Given the description of an element on the screen output the (x, y) to click on. 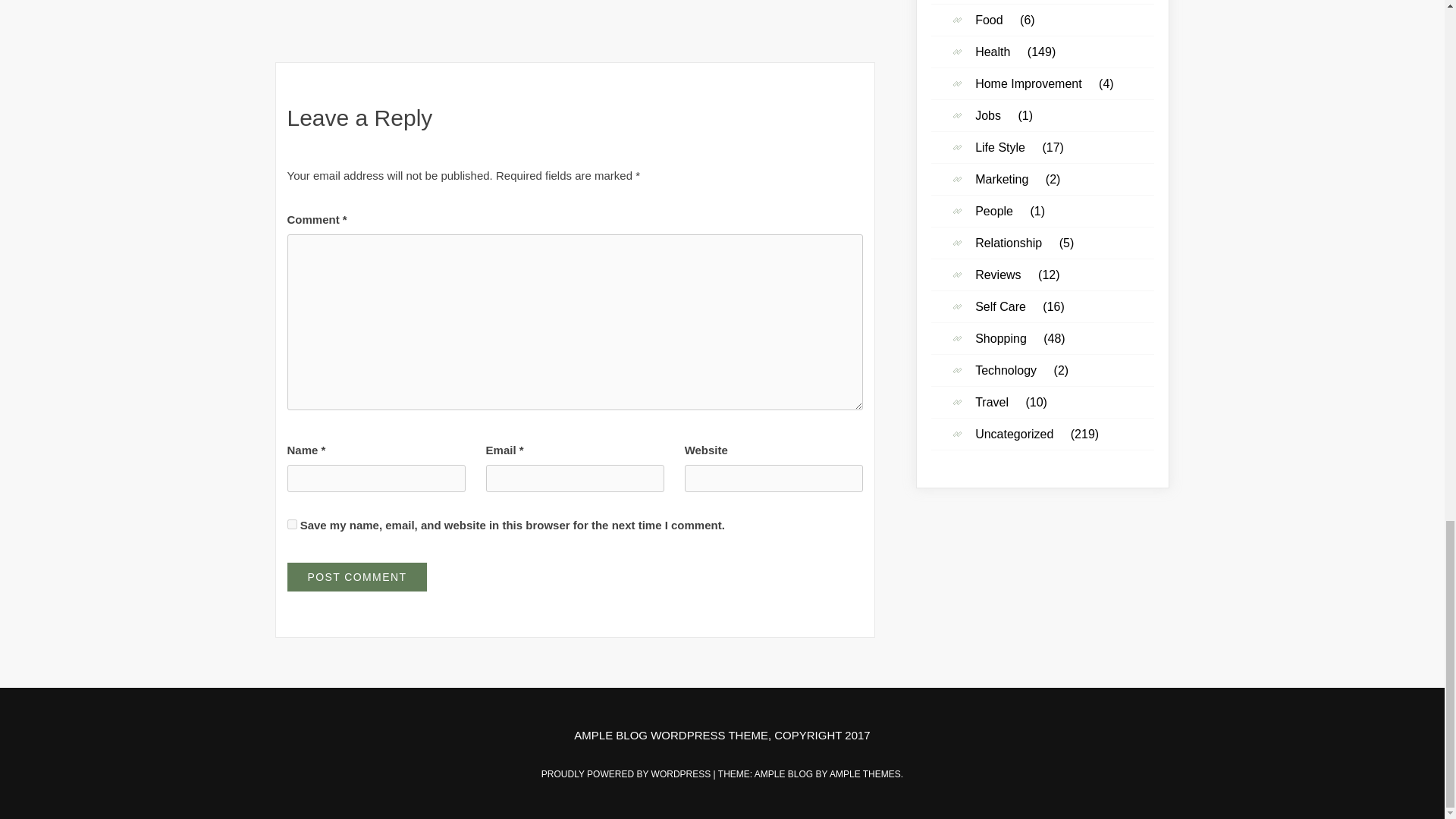
Post Comment (356, 576)
yes (291, 524)
Post Comment (356, 576)
